Given the description of an element on the screen output the (x, y) to click on. 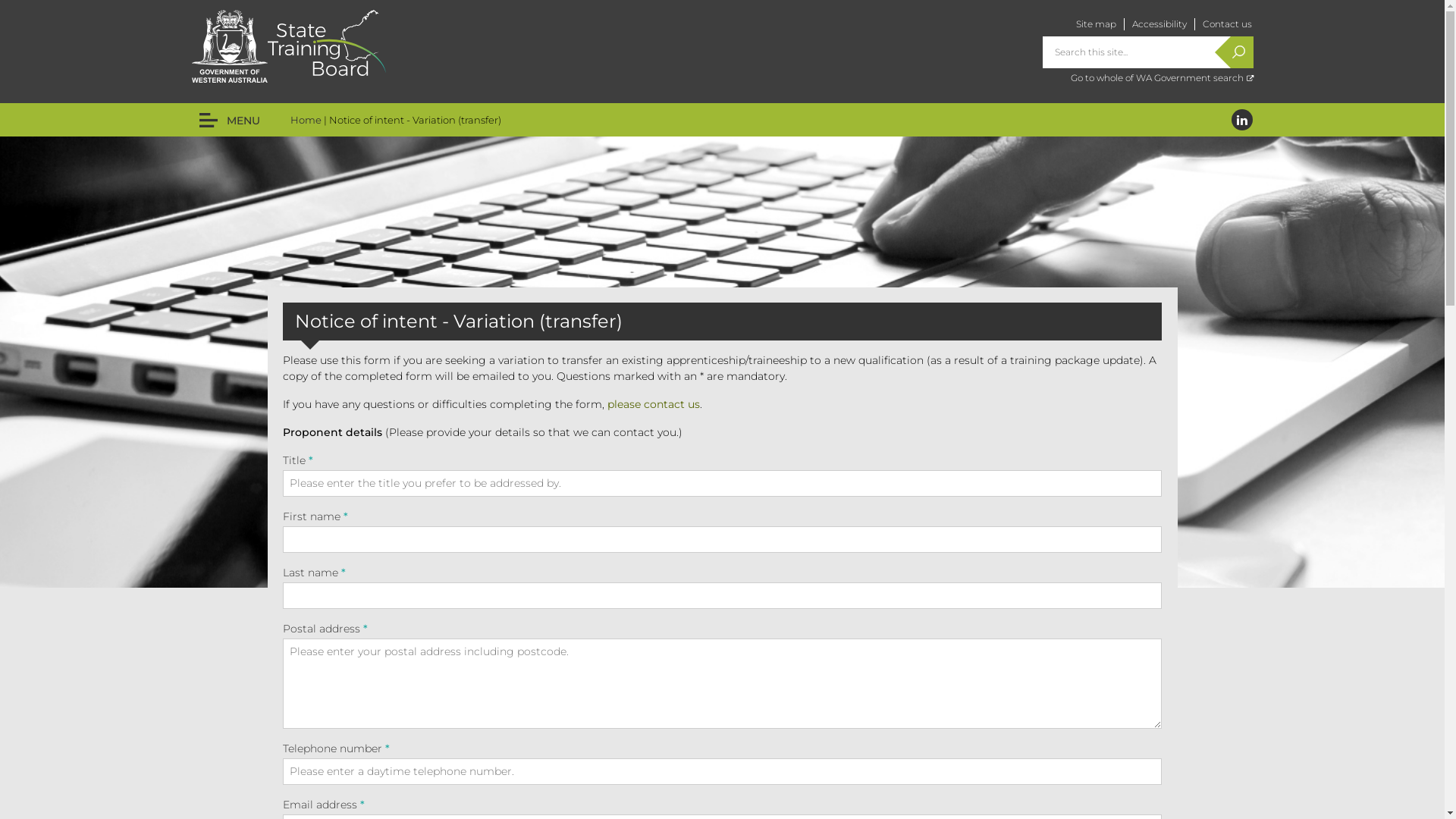
MENU Element type: text (228, 119)
Accessibility Element type: text (1158, 23)
Go to whole of WA Government search Element type: text (1161, 77)
Site map Element type: text (1095, 23)
Search Element type: text (1241, 52)
Home Element type: text (304, 119)
WA State Training Board Element type: hover (325, 42)
Contact us Element type: text (1227, 23)
LinkedIn Element type: text (1241, 119)
Skip to main content Element type: text (62, 0)
please contact us Element type: text (652, 404)
